Given the description of an element on the screen output the (x, y) to click on. 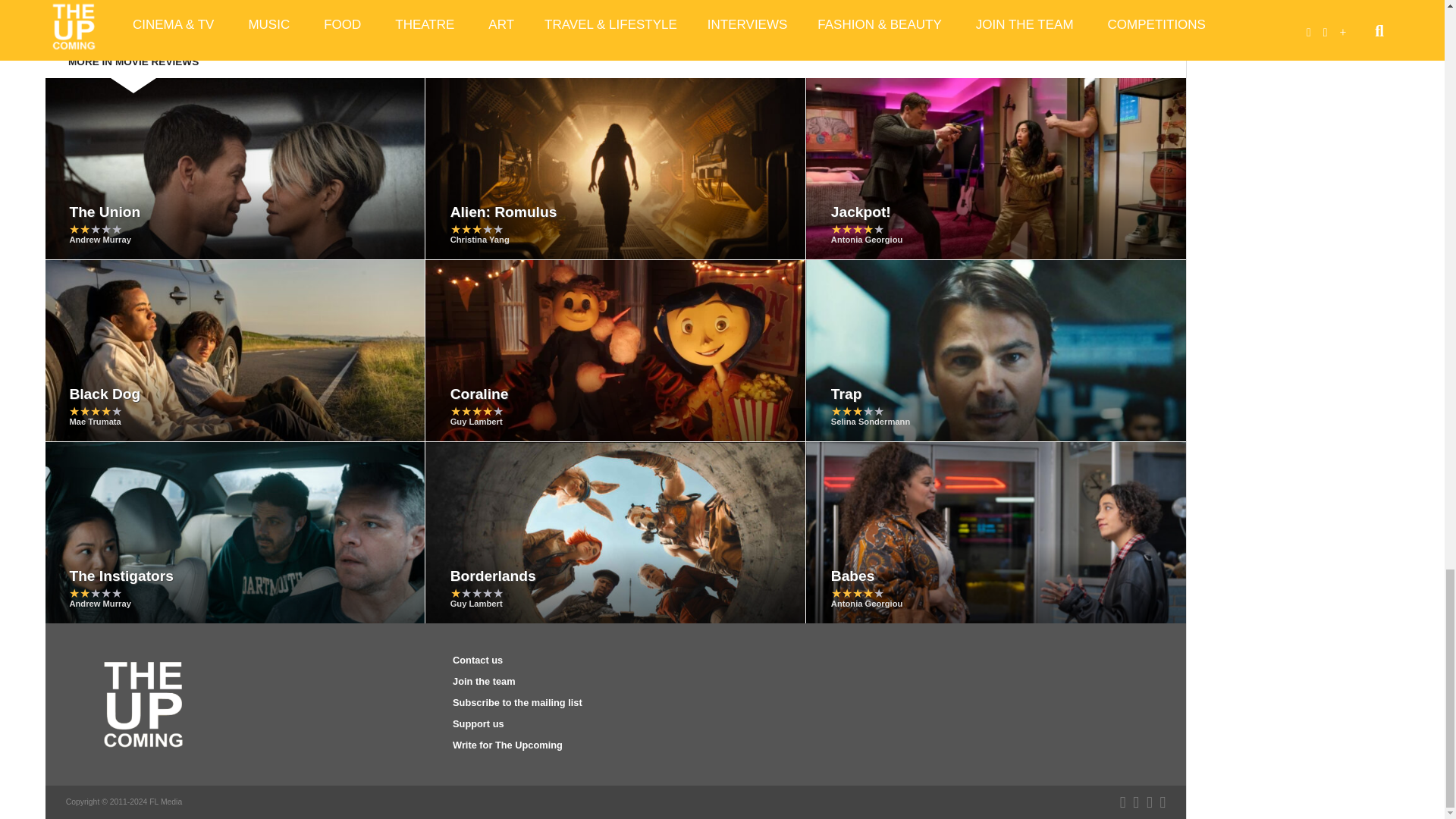
2 out of 5 stars (95, 228)
3 out of 5 stars (476, 228)
4 out of 5 stars (857, 228)
